Given the description of an element on the screen output the (x, y) to click on. 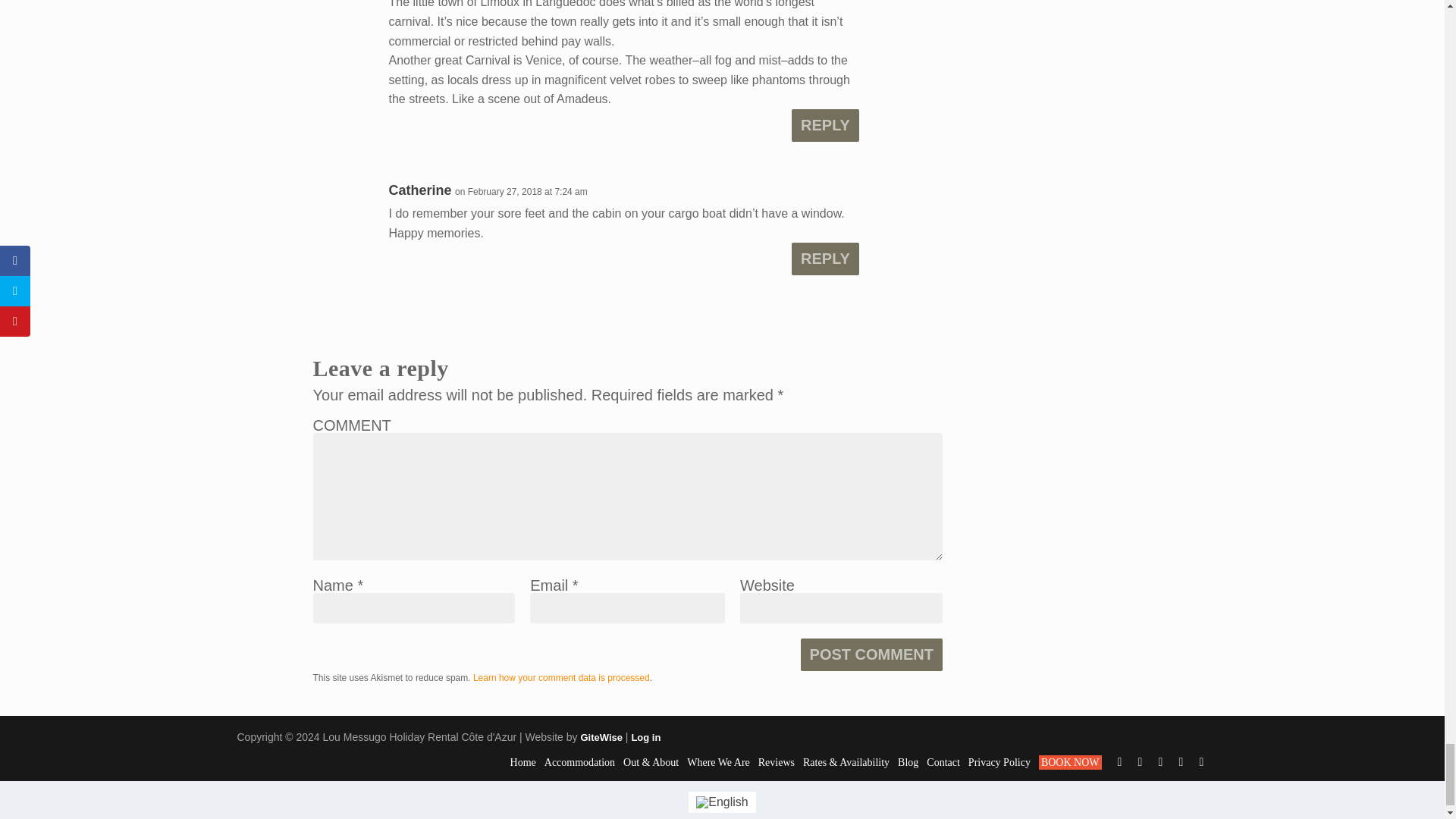
Gite Web Design and Marketing (601, 737)
Post Comment (871, 654)
